Given the description of an element on the screen output the (x, y) to click on. 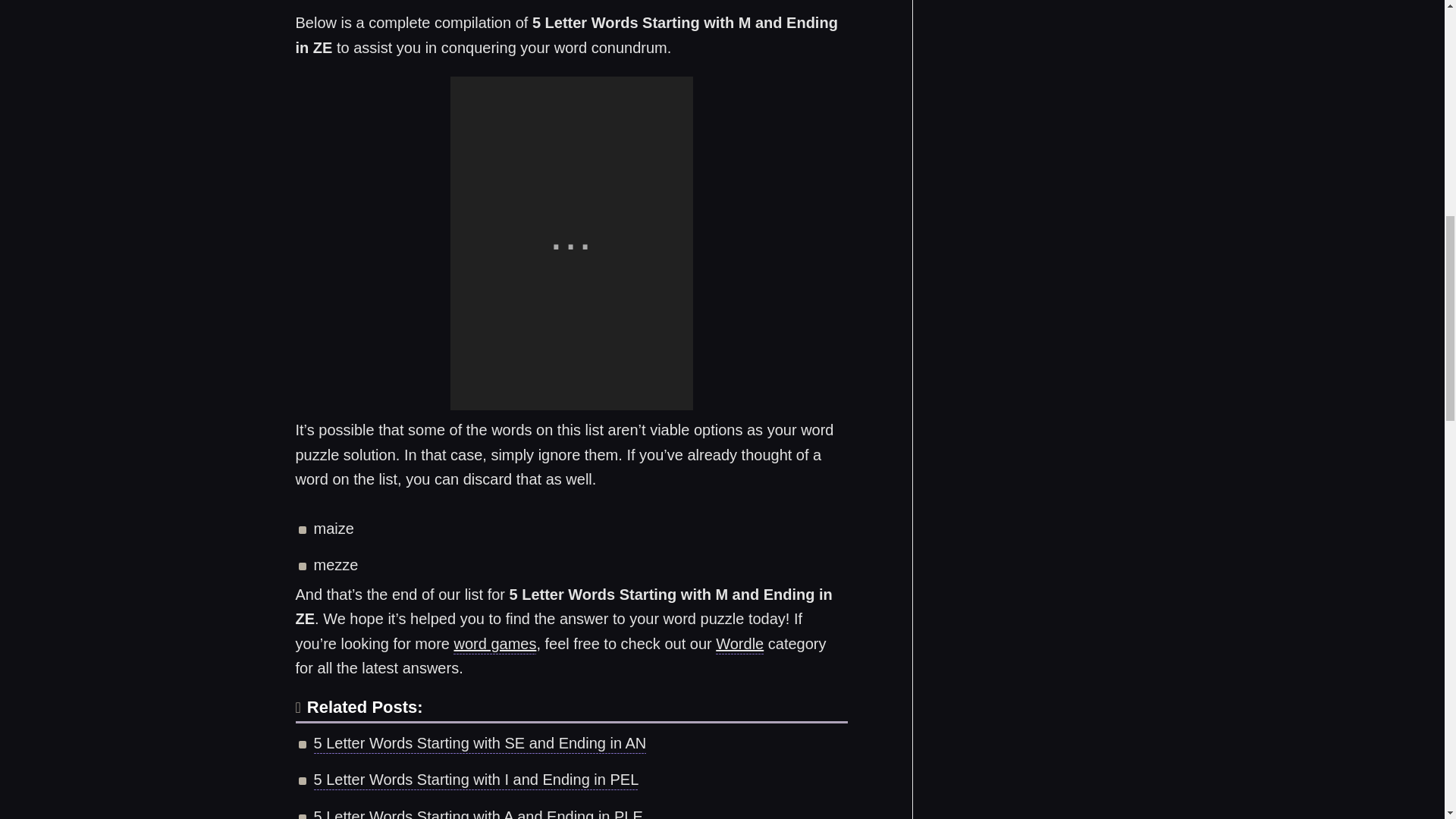
5 Letter Words Starting with SE and Ending in AN (480, 744)
5 Letter Words Starting with SE and Ending in AN (480, 744)
5 Letter Words Starting with I and Ending in PEL (476, 781)
5 Letter Words Starting with I and Ending in PEL (476, 781)
Wordle (739, 645)
5 Letter Words Starting with A and Ending in PLE (478, 813)
word games (493, 645)
5 Letter Words Starting with A and Ending in PLE (478, 813)
